Given the description of an element on the screen output the (x, y) to click on. 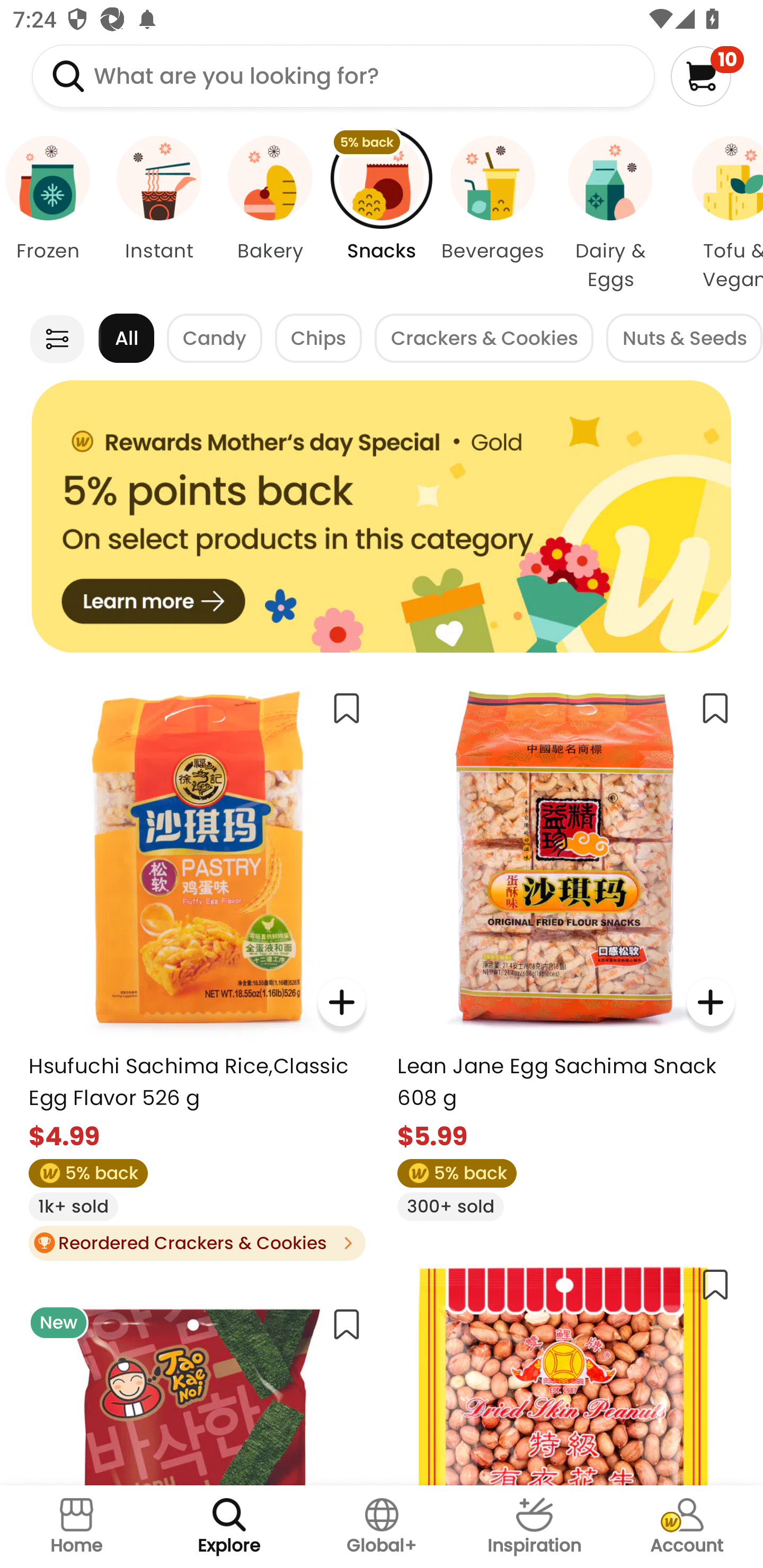
What are you looking for? (343, 75)
10 (706, 75)
Frozen (51, 214)
Instant (158, 214)
Bakery (269, 214)
5% back Snacks (381, 214)
Beverages (492, 214)
Dairy & Eggs (610, 214)
Tofu & Vegan (717, 214)
All (126, 337)
Candy (214, 337)
Chips (317, 337)
Crackers & Cookies (483, 337)
Nuts & Seeds (683, 337)
